Given the description of an element on the screen output the (x, y) to click on. 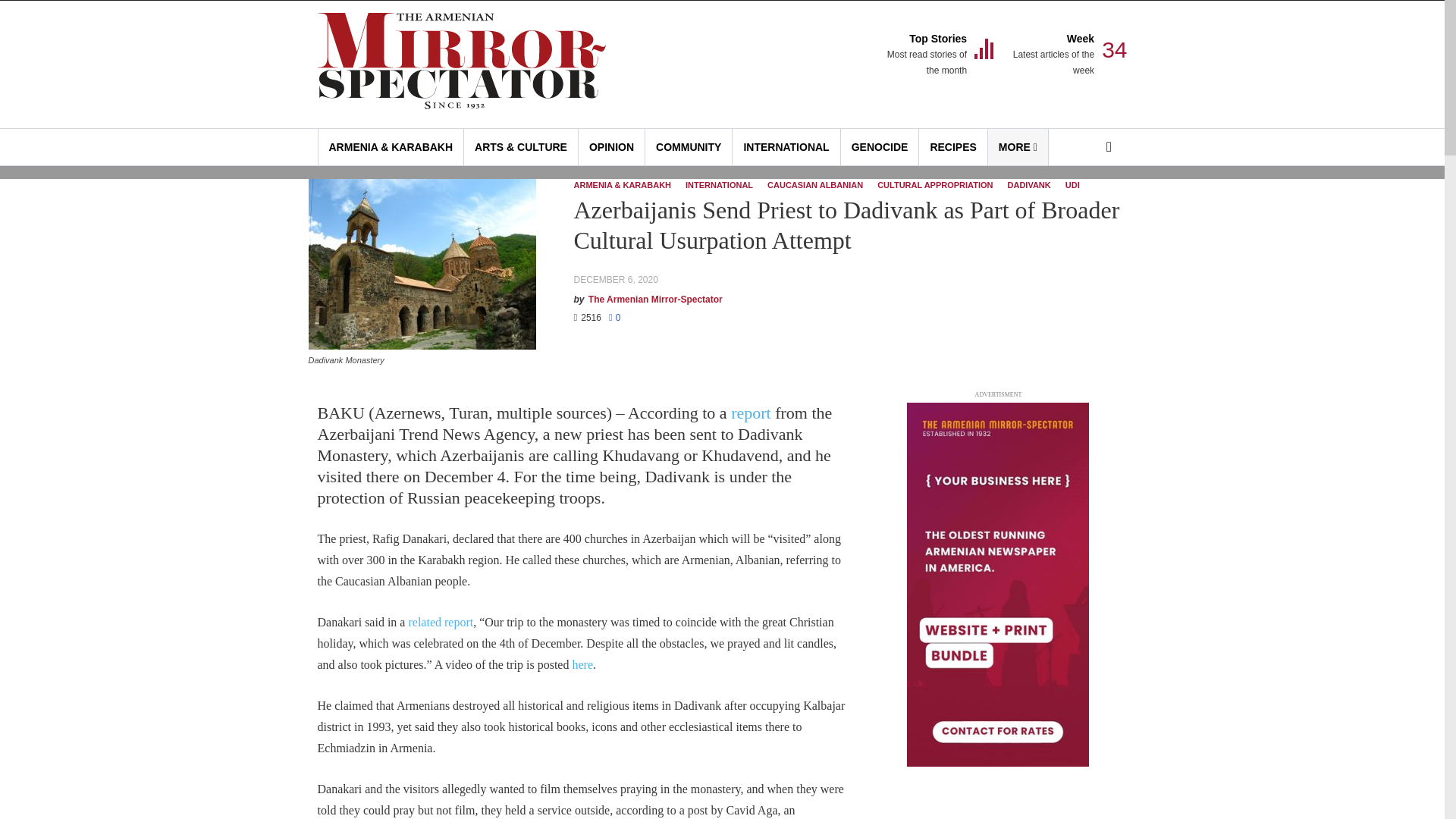
GENOCIDE (879, 146)
COMMUNITY (924, 54)
MORE (688, 146)
INTERNATIONAL (1018, 146)
RECIPES (786, 146)
OPINION (952, 146)
Dadivank 2 (611, 146)
